Given the description of an element on the screen output the (x, y) to click on. 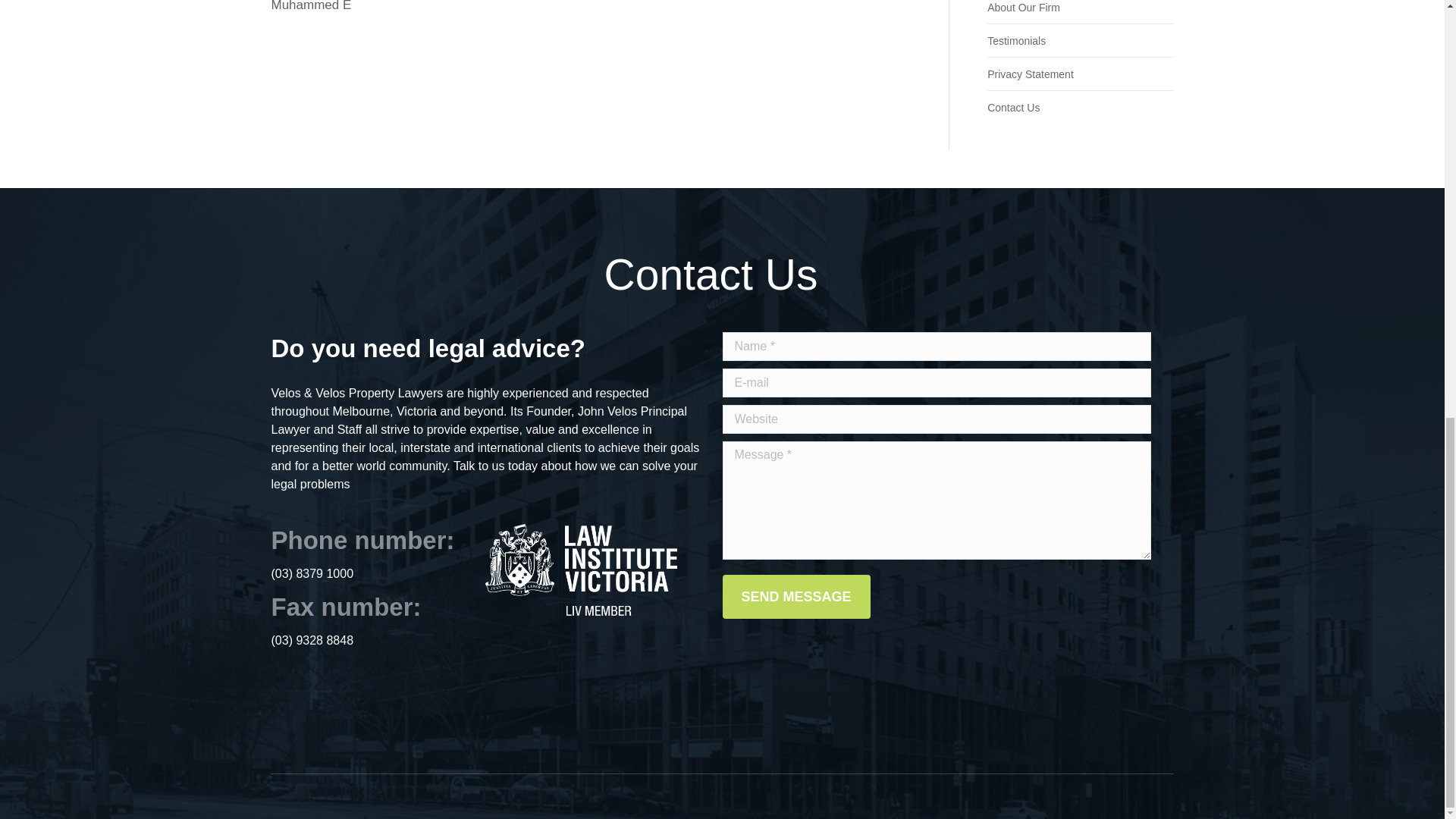
submit (1103, 590)
